Given the description of an element on the screen output the (x, y) to click on. 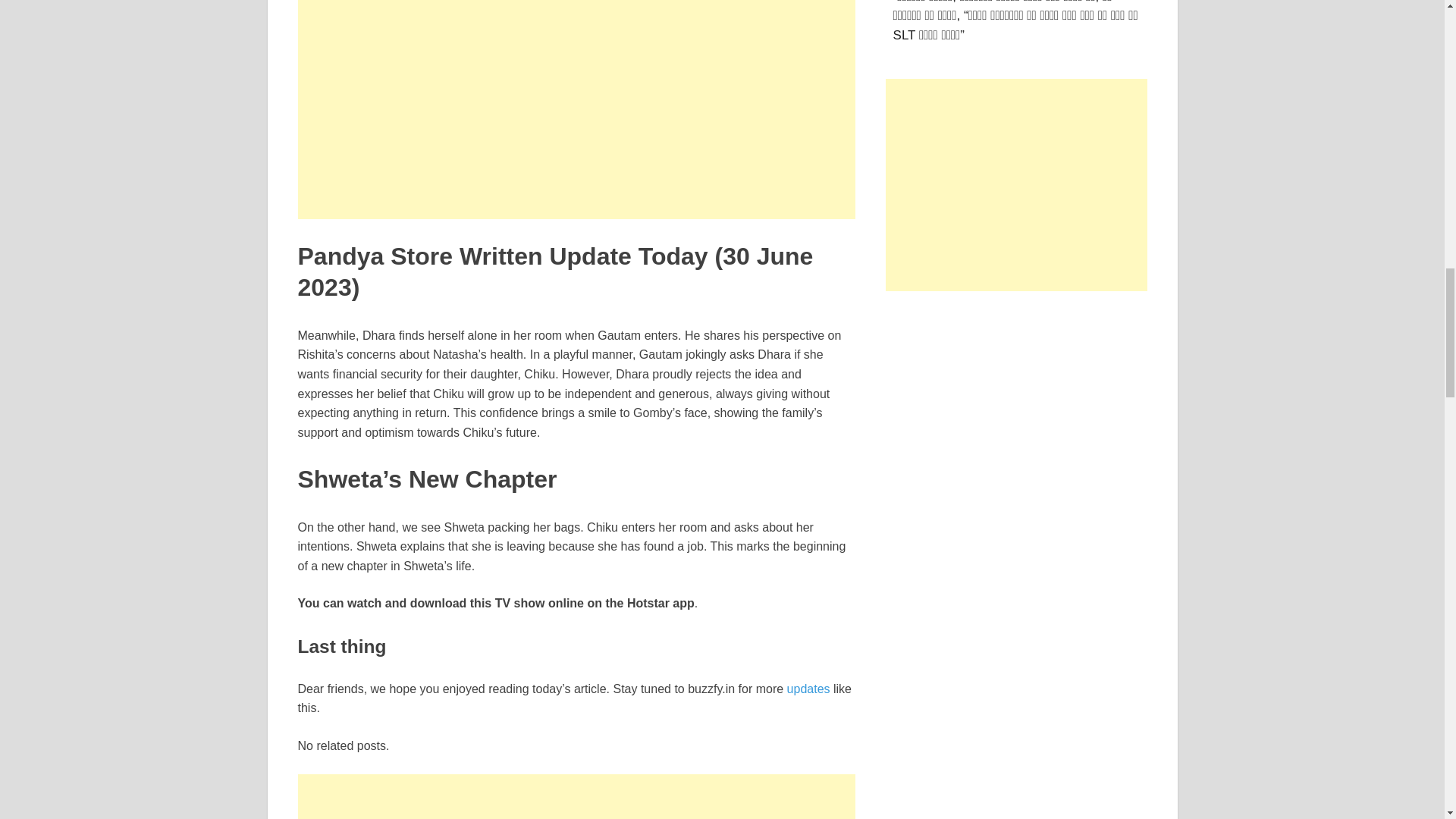
updates (808, 688)
Advertisement (575, 3)
Advertisement (575, 796)
Advertisement (1016, 184)
Advertisement (575, 112)
